Given the description of an element on the screen output the (x, y) to click on. 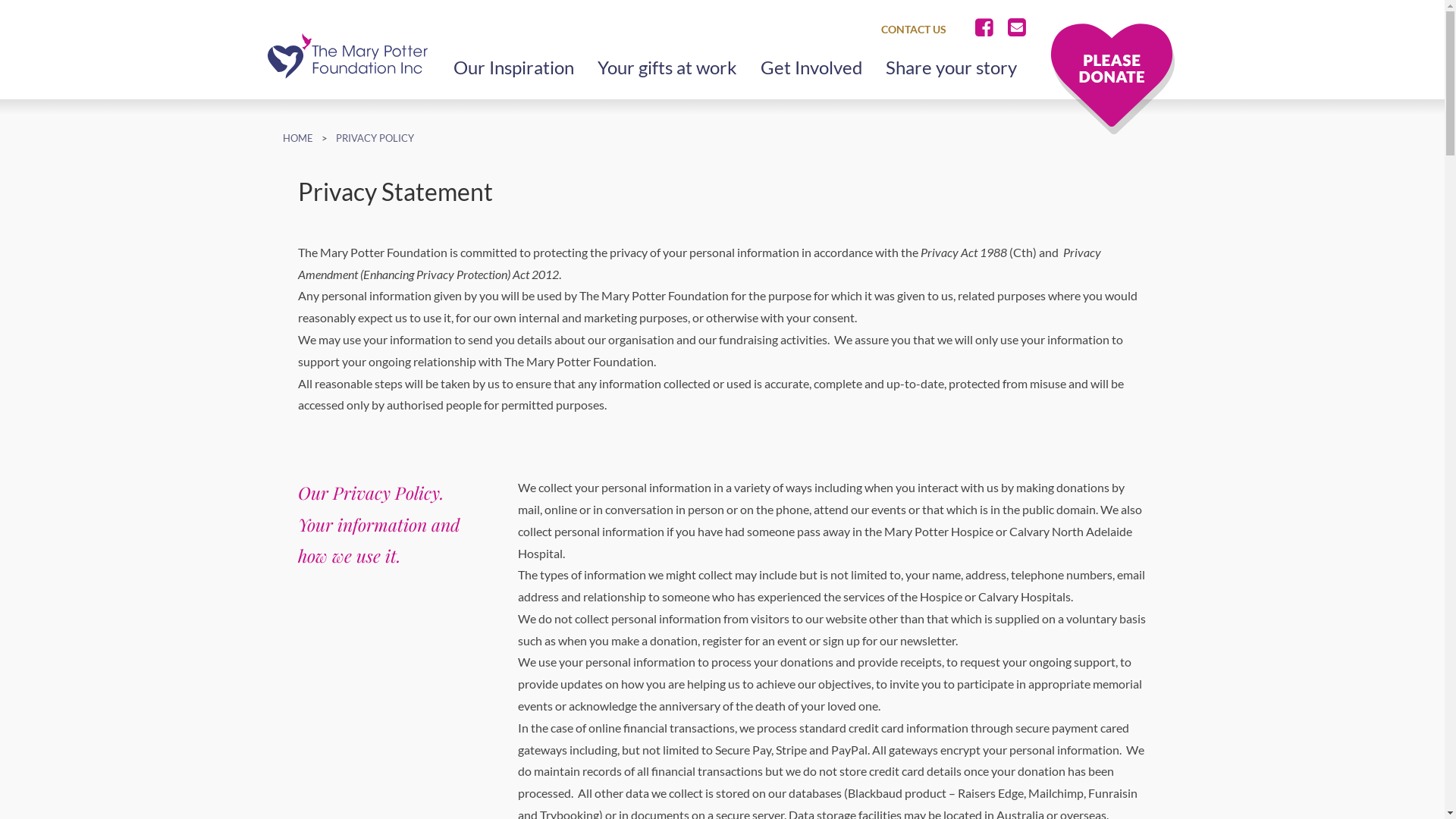
Your gifts at work Element type: text (667, 67)
Follow us on Facebook Element type: hover (987, 27)
PRIVACY POLICY Element type: text (374, 137)
HOME Element type: text (297, 137)
Get Involved Element type: text (811, 67)
Email Us Element type: hover (1016, 27)
Our Inspiration Element type: text (513, 67)
Share your story Element type: text (950, 67)
CONTACT US Element type: text (909, 29)
